Given the description of an element on the screen output the (x, y) to click on. 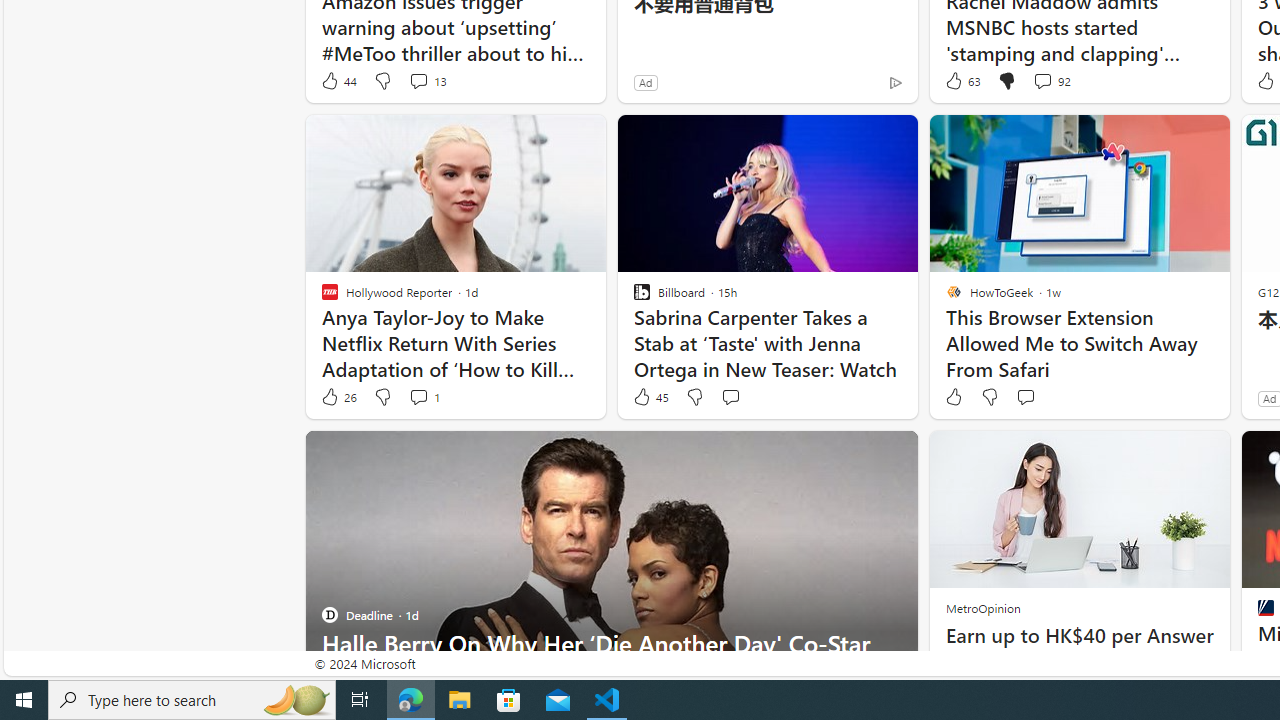
44 Like (337, 80)
View comments 92 Comment (1051, 80)
View comments 13 Comment (418, 80)
Hide this story (857, 454)
MetroOpinion (982, 607)
View comments 1 Comment (423, 397)
45 Like (650, 397)
Earn up to HK$40 per Answer (1078, 636)
View comments 92 Comment (1042, 80)
Dislike (989, 397)
Like (952, 397)
View comments 1 Comment (418, 396)
Ad (1269, 398)
Start the conversation (1025, 397)
